Given the description of an element on the screen output the (x, y) to click on. 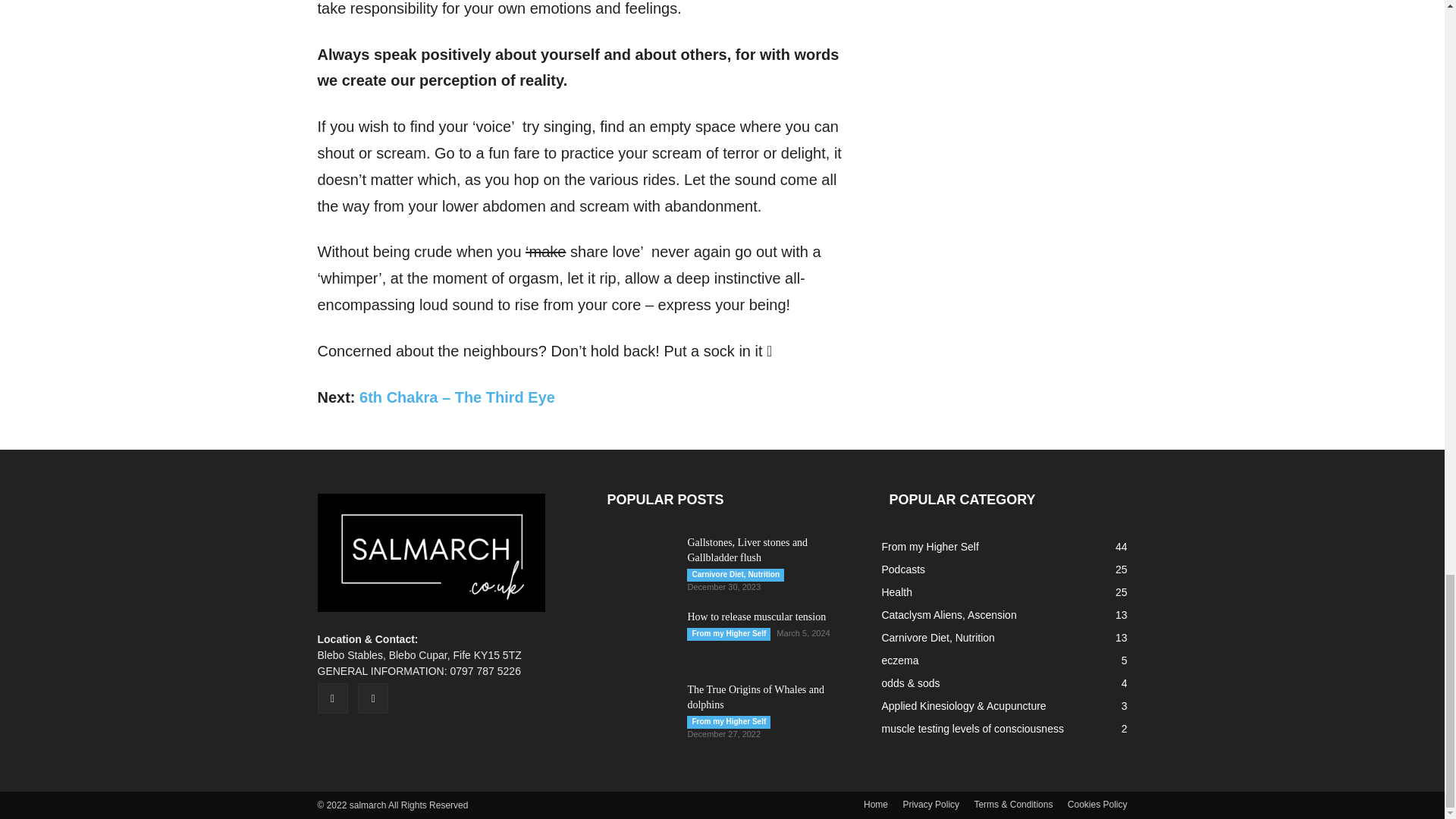
Gallstones, Liver stones and Gallbladder flush (633, 559)
SALMARCH.co.uk (430, 552)
How to release muscular tension (636, 635)
Youtube (373, 698)
How to release muscular tension (756, 616)
Gallstones, Liver stones and Gallbladder flush (747, 550)
Facebook (332, 698)
